Given the description of an element on the screen output the (x, y) to click on. 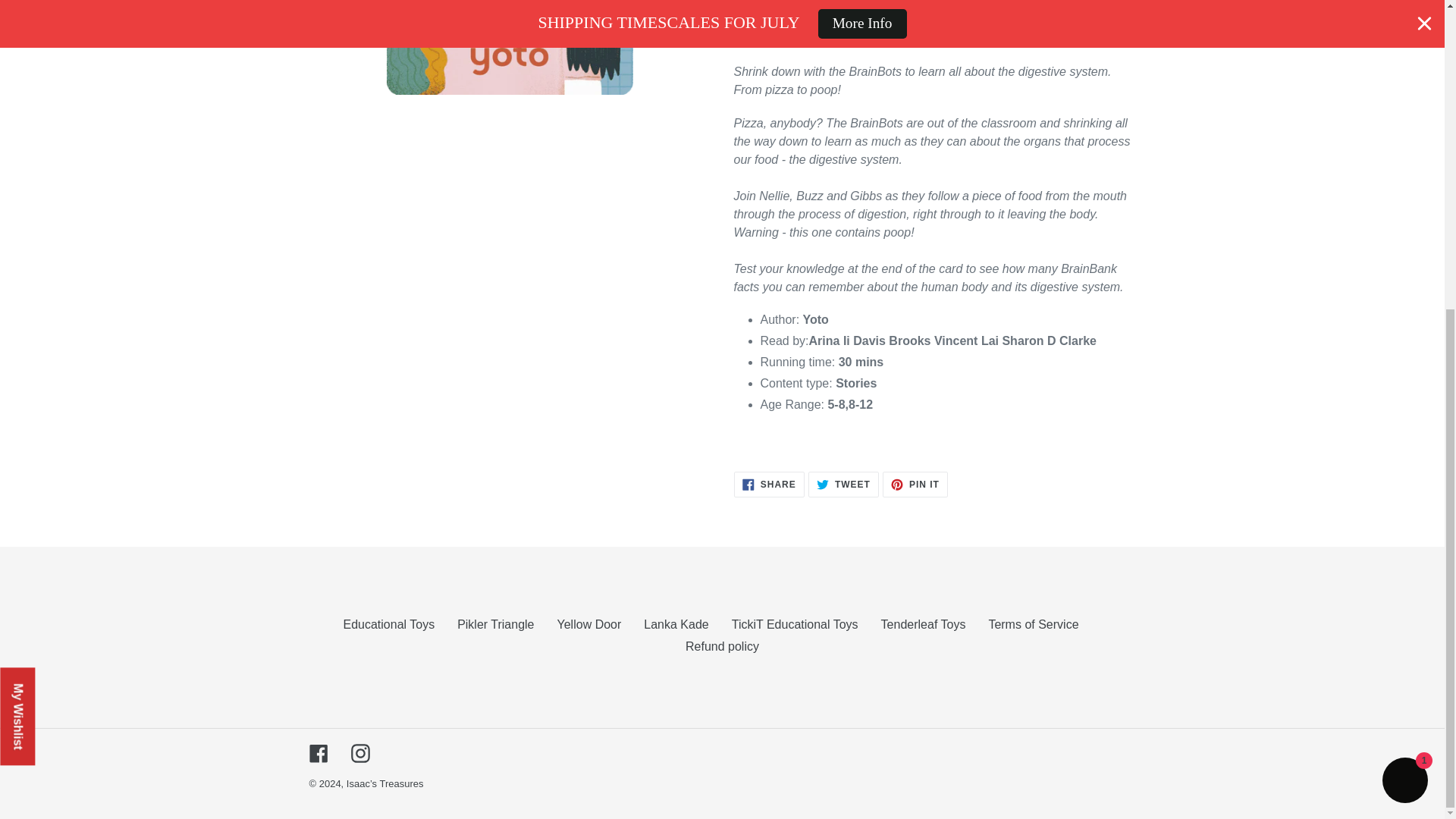
Shopify online store chat (1404, 292)
